Given the description of an element on the screen output the (x, y) to click on. 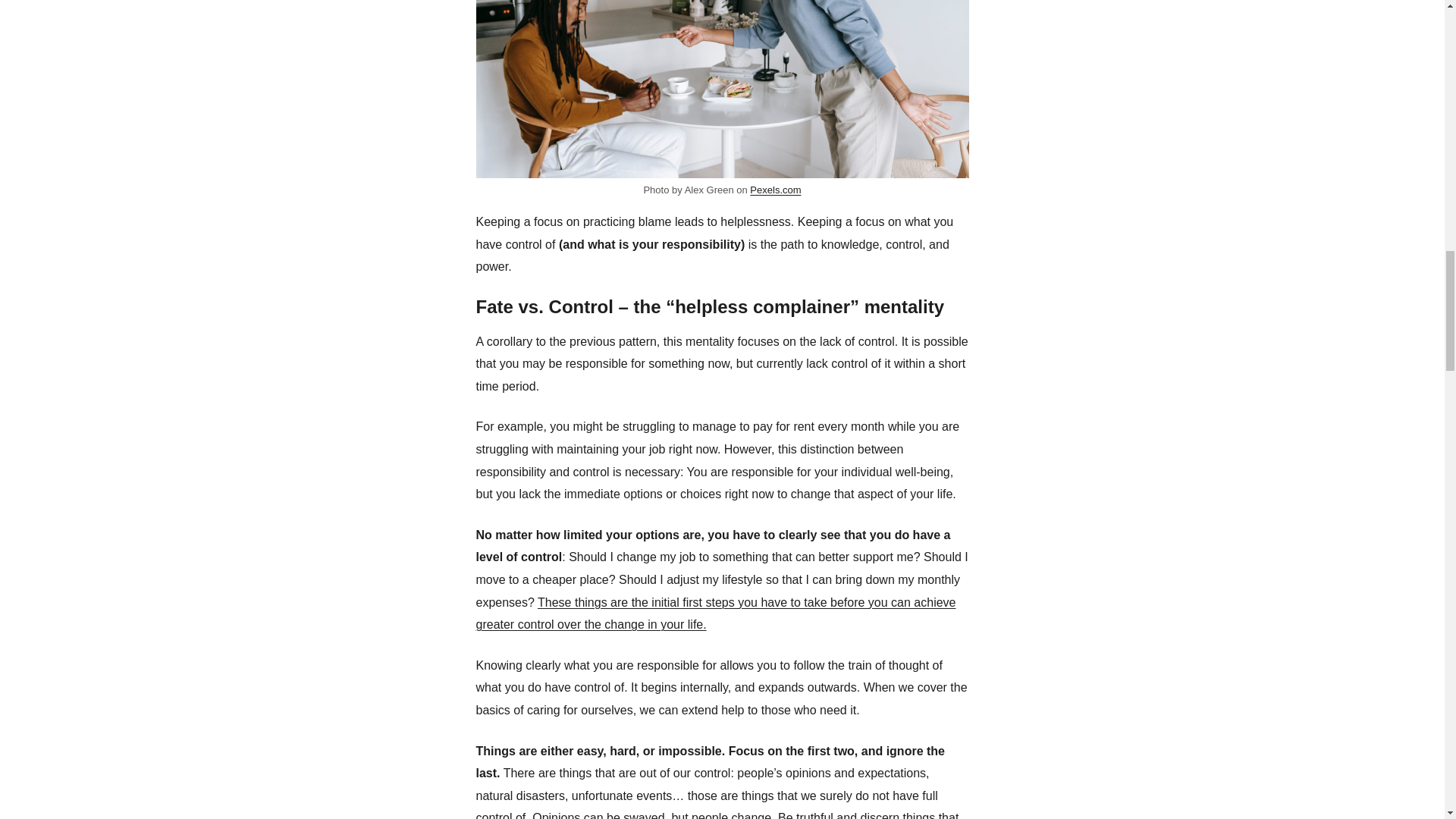
Pexels.com (774, 189)
